Given the description of an element on the screen output the (x, y) to click on. 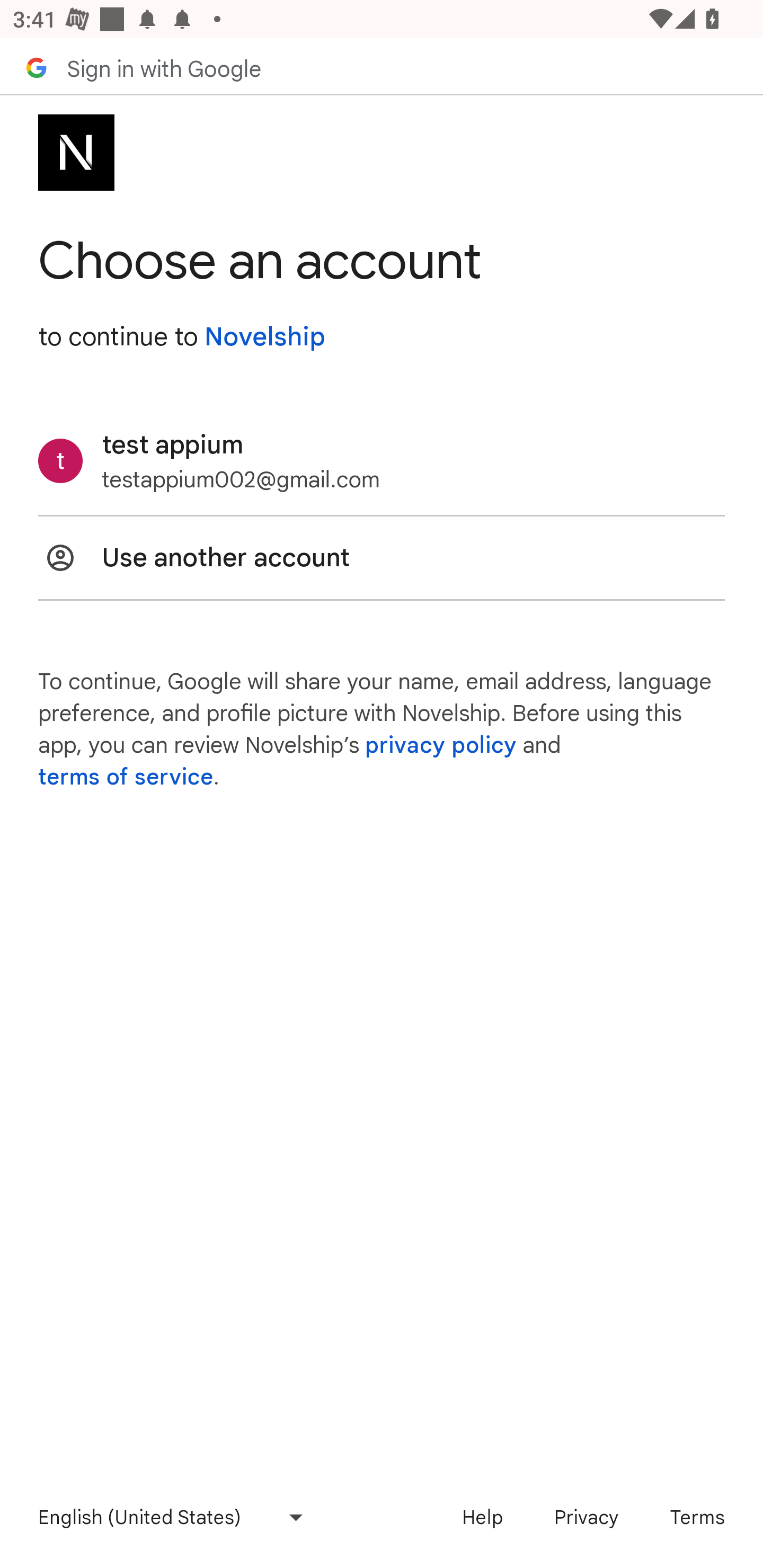
Novelship (264, 336)
Use another account (381, 556)
privacy policy (440, 744)
terms of service (126, 776)
Help (481, 1517)
Privacy (586, 1517)
Terms (696, 1517)
